Given the description of an element on the screen output the (x, y) to click on. 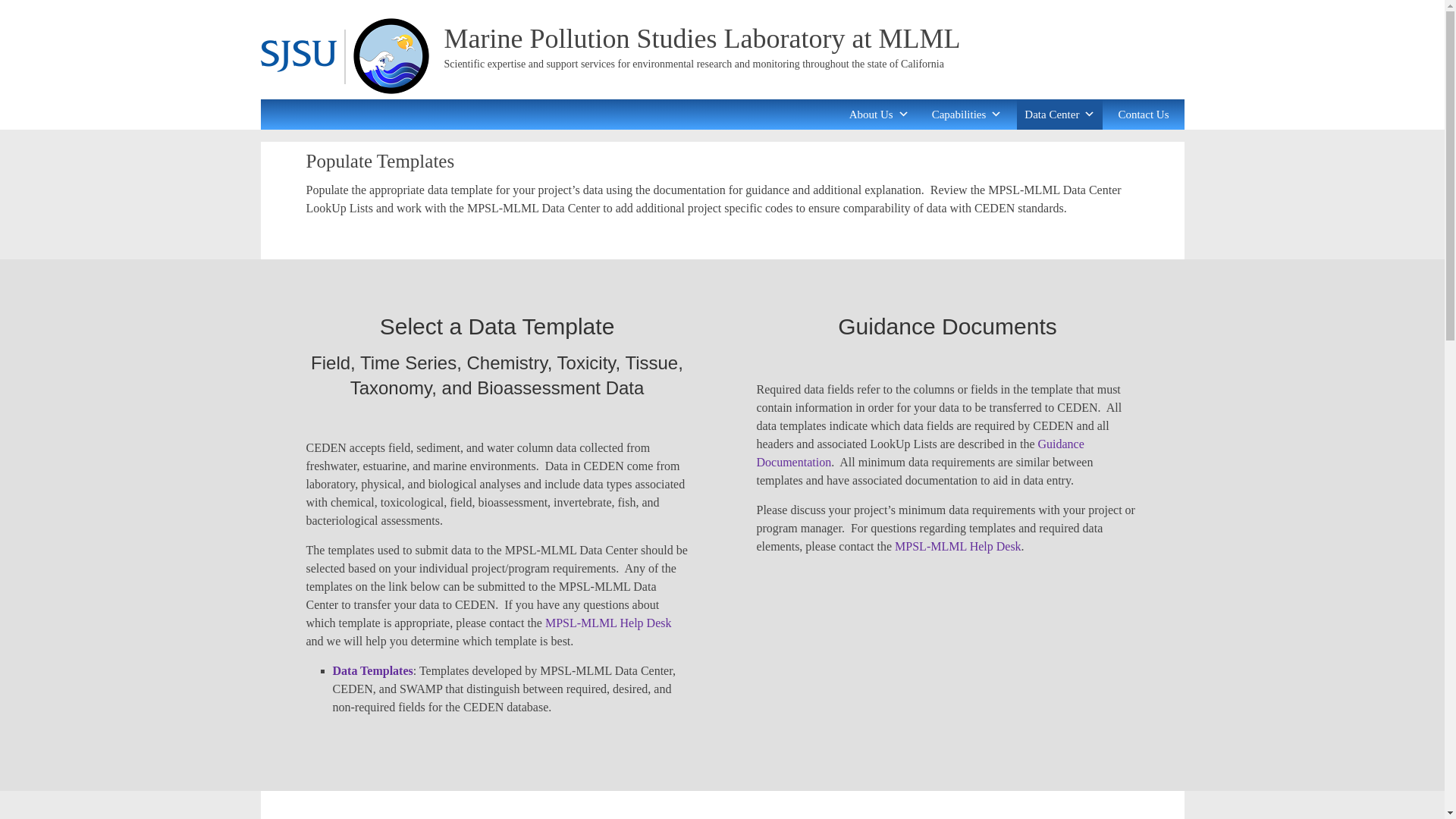
Marine Pollution Studies Laboratory at MLML (702, 38)
Data Center (1059, 114)
Capabilities (967, 114)
About Us (879, 114)
MPSL-MLML Help Desk (958, 545)
Marine Pollution Studies Laboratory at MLML (702, 38)
Data Templates (371, 670)
MPSL-MLML Help Desk (607, 622)
Guidance Documentation (920, 452)
